Given the description of an element on the screen output the (x, y) to click on. 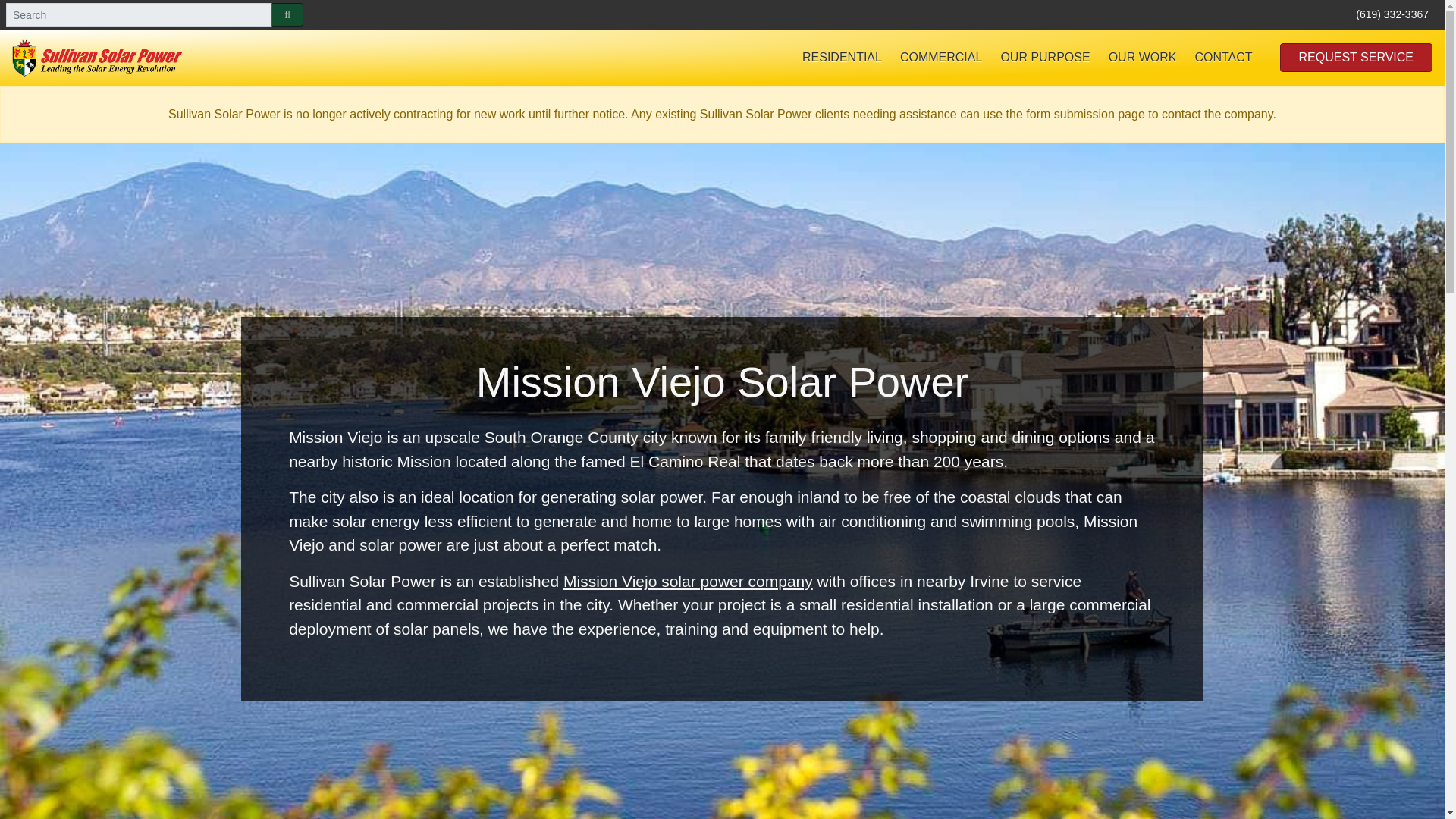
Mission Viejo solar power company (687, 580)
RESIDENTIAL (842, 57)
CONTACT (1222, 57)
OUR WORK (1142, 57)
OUR PURPOSE (1045, 57)
REQUEST SERVICE (1355, 57)
COMMERCIAL (941, 57)
